Given the description of an element on the screen output the (x, y) to click on. 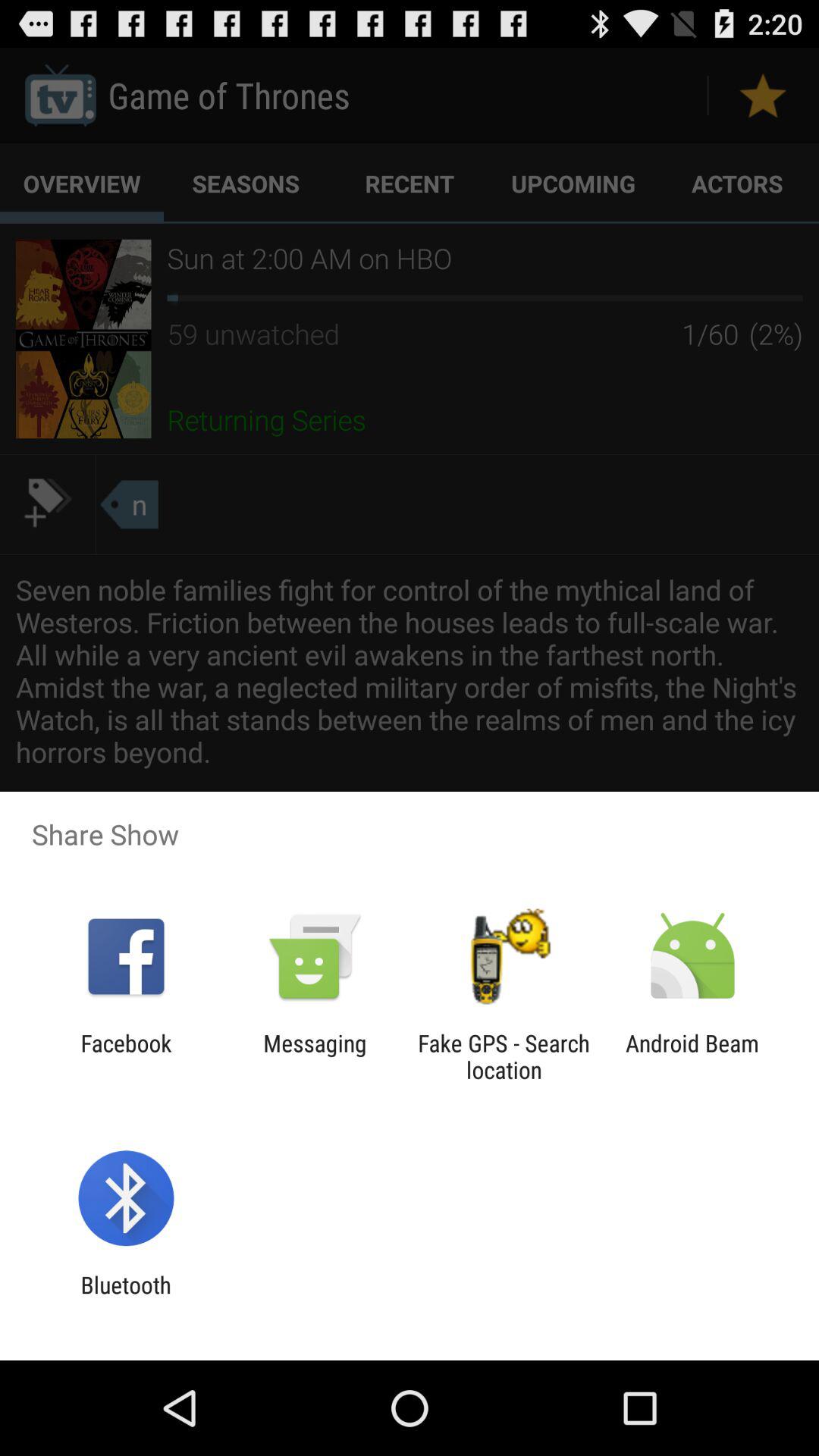
open icon to the right of the fake gps search app (692, 1056)
